Given the description of an element on the screen output the (x, y) to click on. 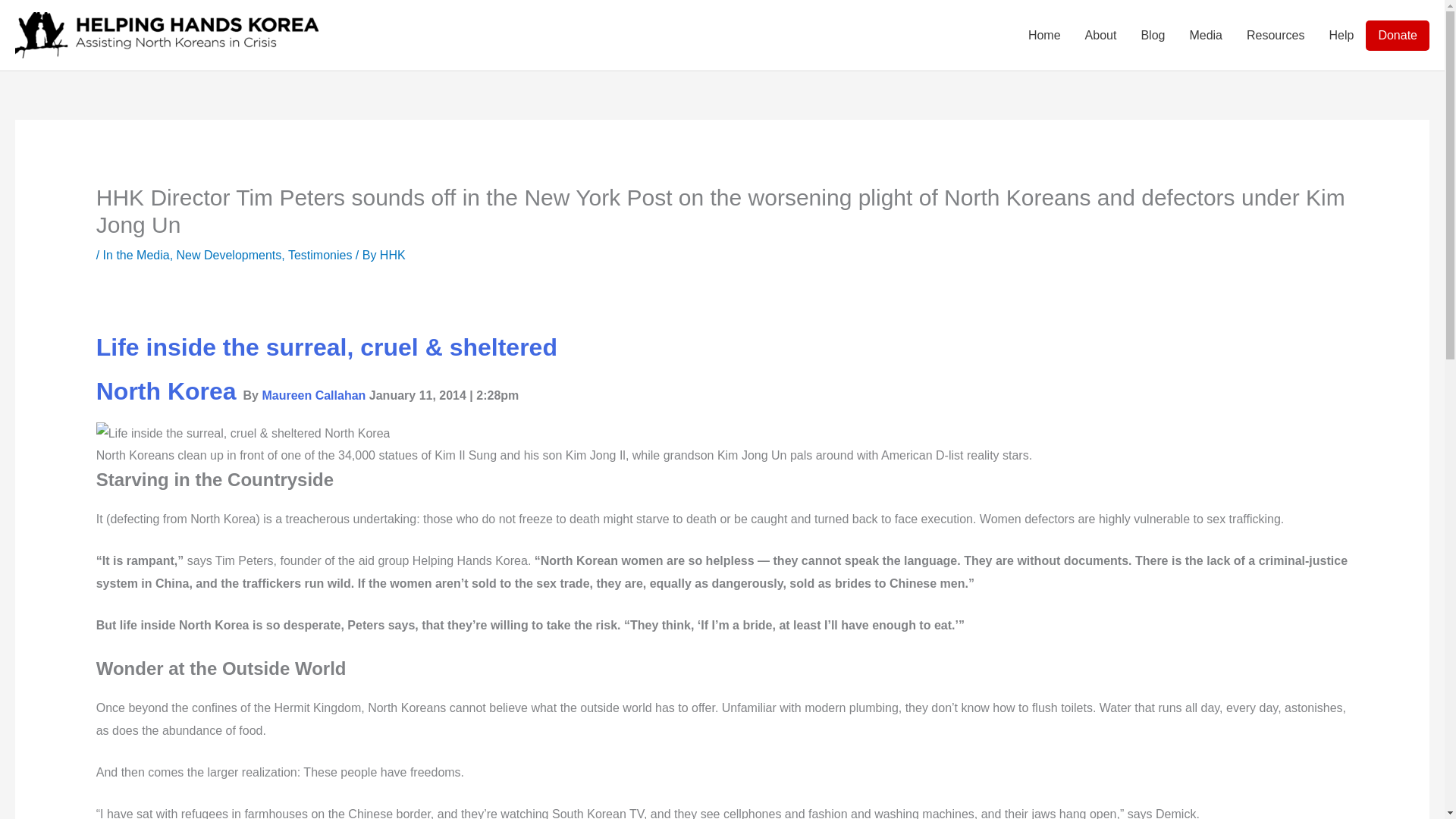
HHK (393, 254)
North Korea (165, 390)
In the Media (136, 254)
Maureen Callahan (313, 395)
Resources (1275, 34)
Help (1340, 34)
About (1101, 34)
Blog (1152, 34)
Donate (1397, 34)
New Developments (229, 254)
